Given the description of an element on the screen output the (x, y) to click on. 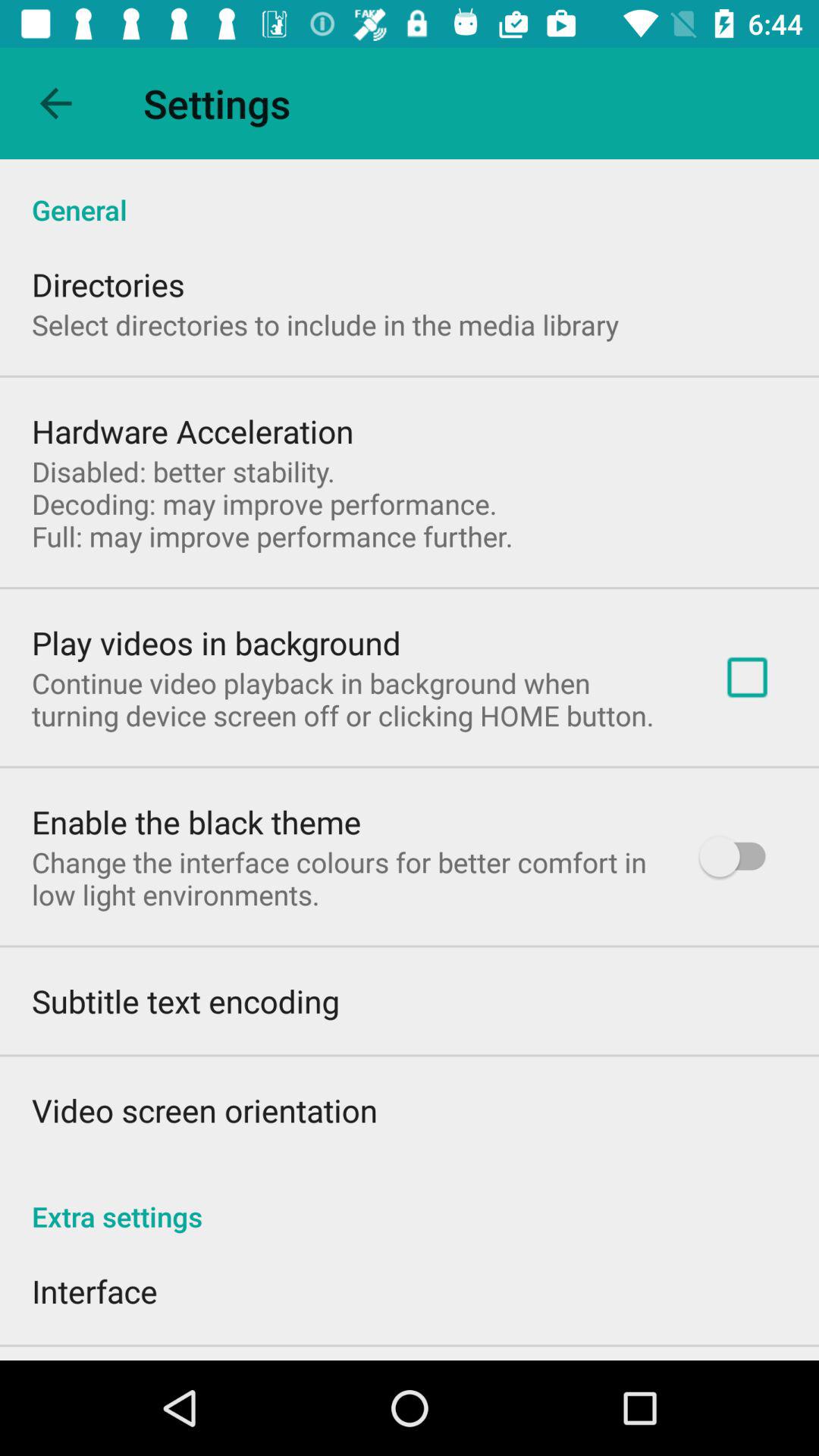
choose app to the right of change the interface item (739, 856)
